Given the description of an element on the screen output the (x, y) to click on. 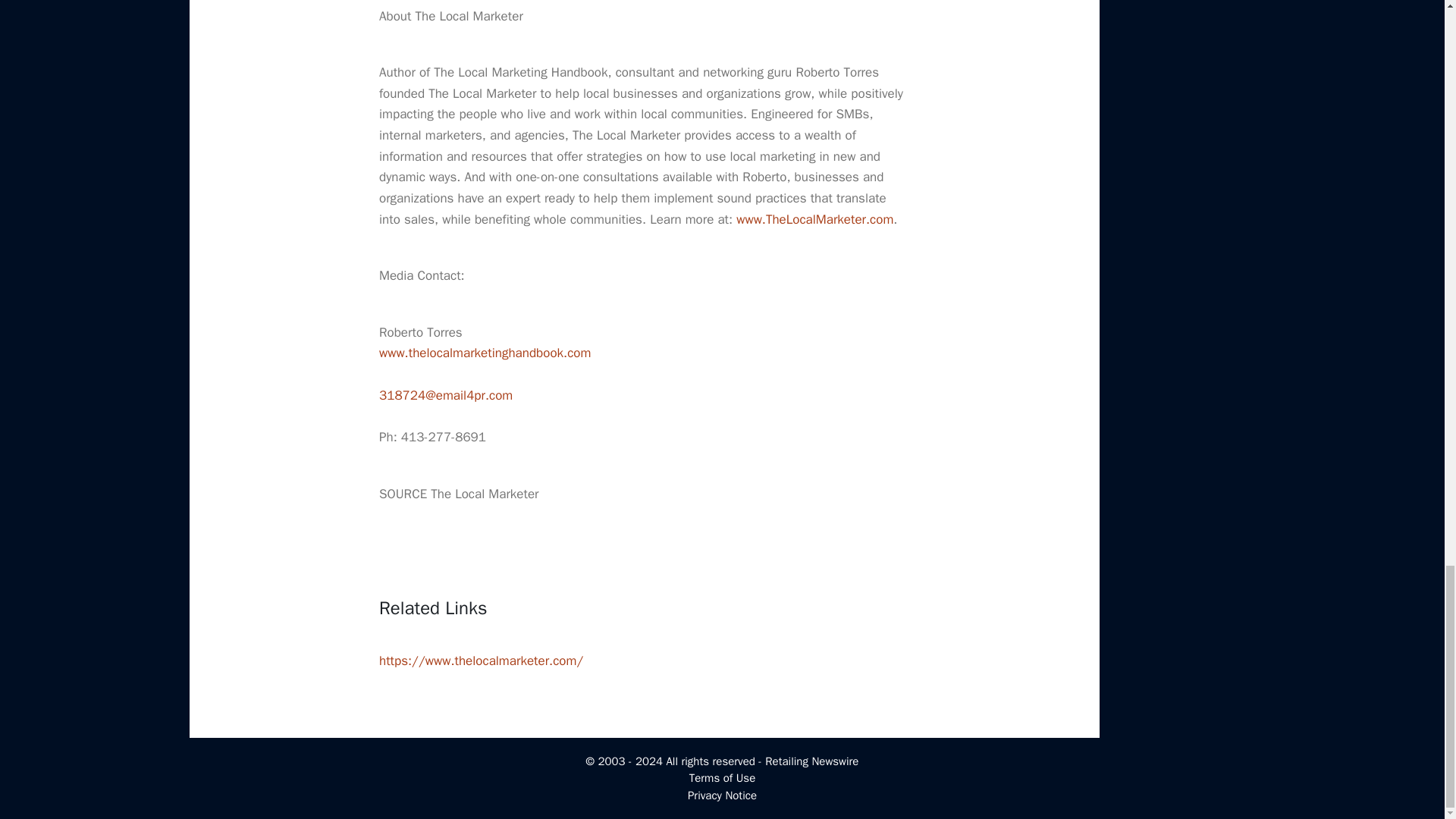
www.thelocalmarketinghandbook.com (484, 352)
Terms of Use (721, 777)
Privacy Notice (722, 795)
www.TheLocalMarketer.com (814, 219)
